Given the description of an element on the screen output the (x, y) to click on. 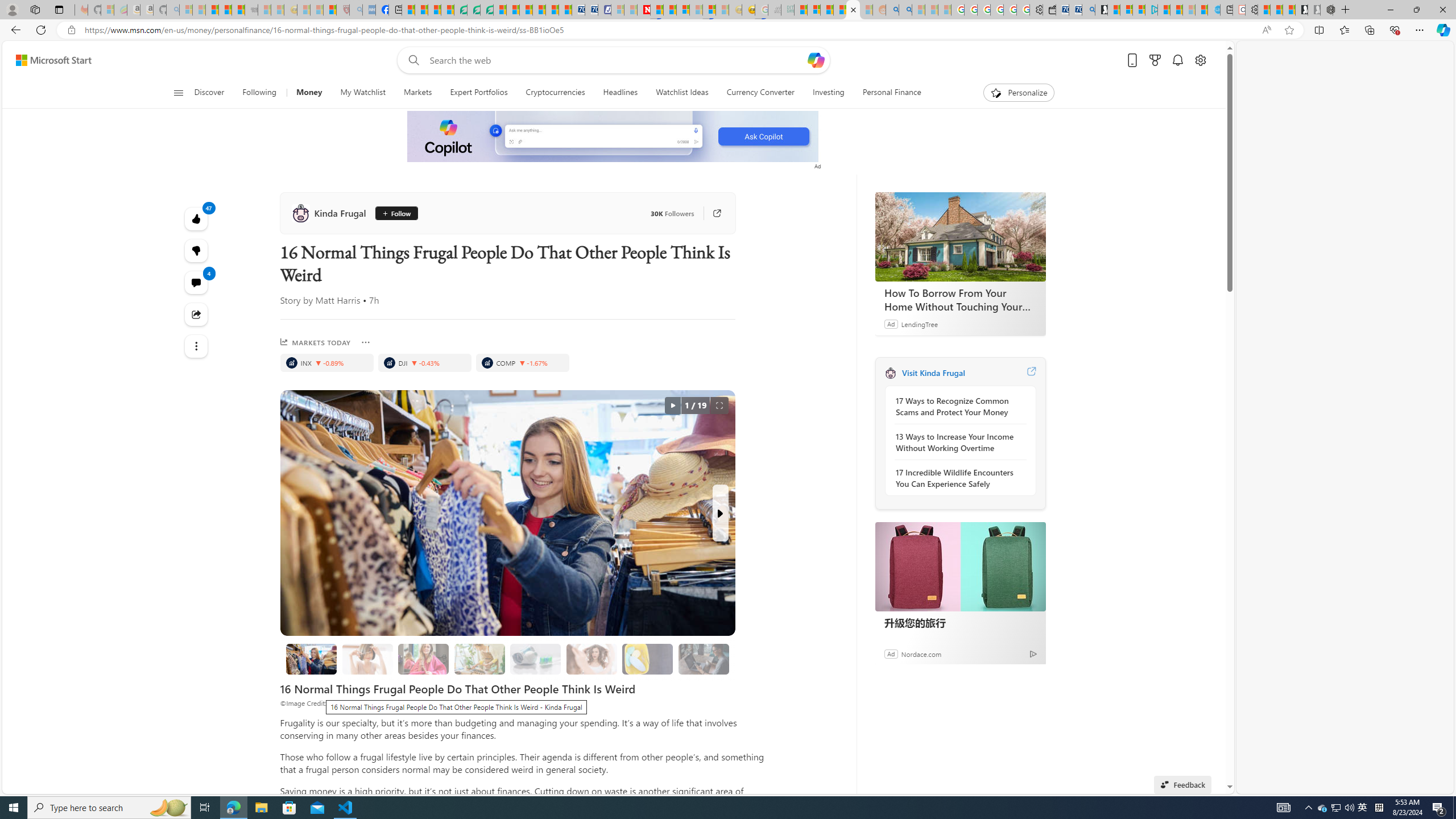
Price decrease (521, 362)
6. Soap Saving (646, 658)
Money (308, 92)
Local - MSN (329, 9)
How To Borrow From Your Home Without Touching Your Mortgage (960, 236)
Navy Quest (774, 9)
1. Cutting Hair (367, 659)
Utah sues federal government - Search (905, 9)
